Given the description of an element on the screen output the (x, y) to click on. 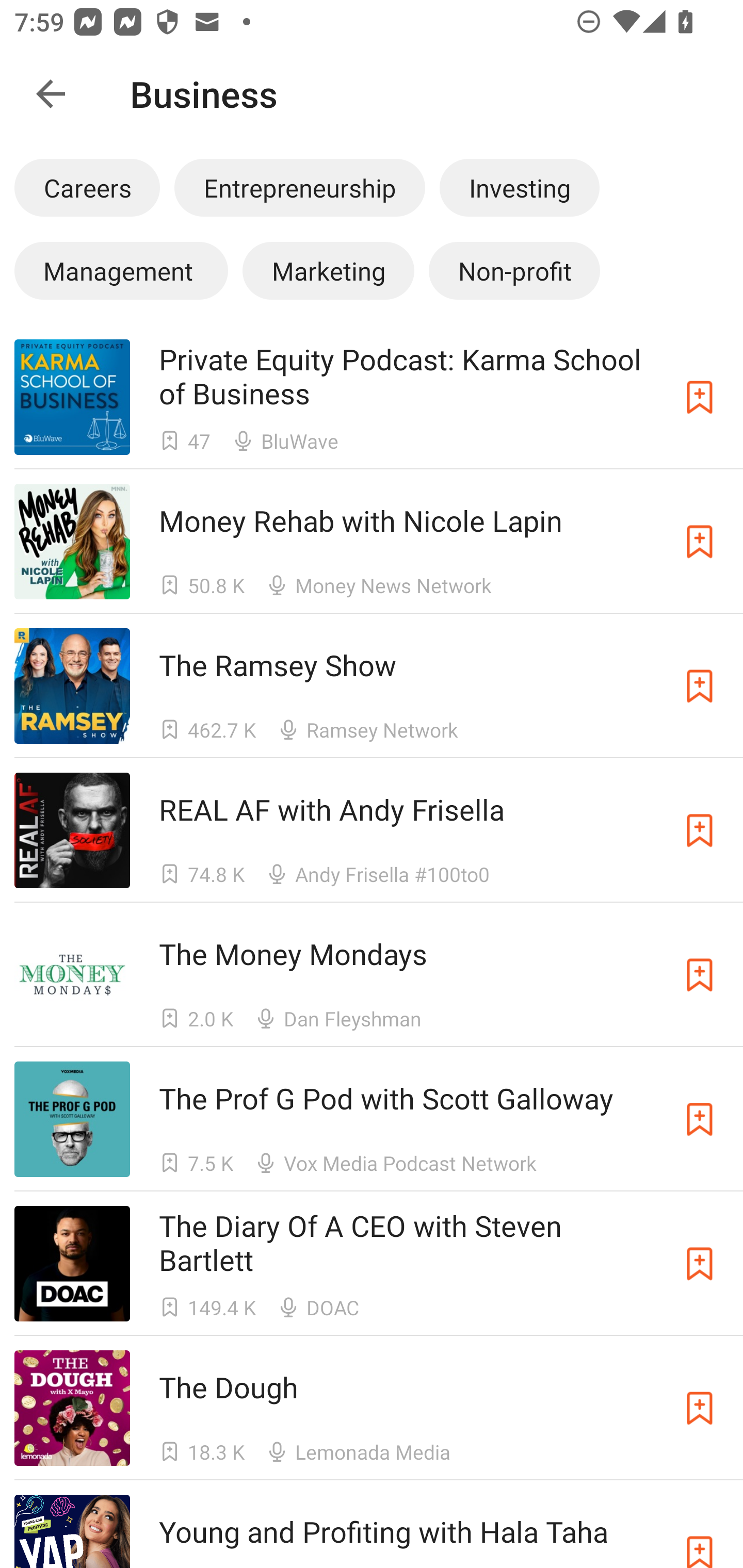
Navigate up (50, 93)
Careers (86, 187)
Entrepreneurship (299, 187)
Investing (519, 187)
Management  (121, 270)
Marketing (328, 270)
Non-profit (514, 270)
Subscribe (699, 396)
Subscribe (699, 541)
Subscribe (699, 685)
Subscribe (699, 830)
Subscribe (699, 975)
Subscribe (699, 1119)
